Given the description of an element on the screen output the (x, y) to click on. 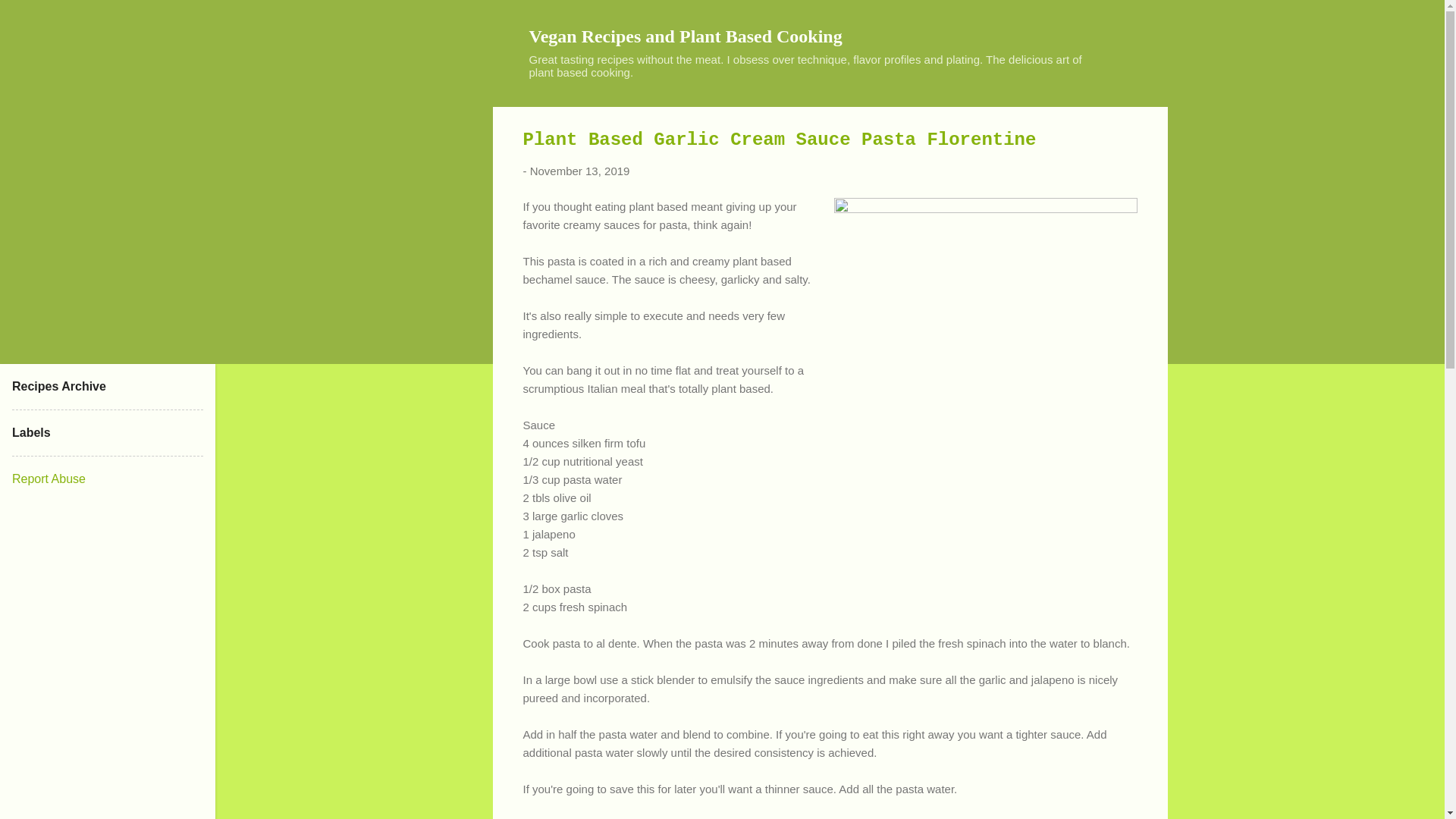
November 13, 2019 (579, 170)
Search (29, 18)
permanent link (579, 170)
Vegan Recipes and Plant Based Cooking (686, 35)
